Given the description of an element on the screen output the (x, y) to click on. 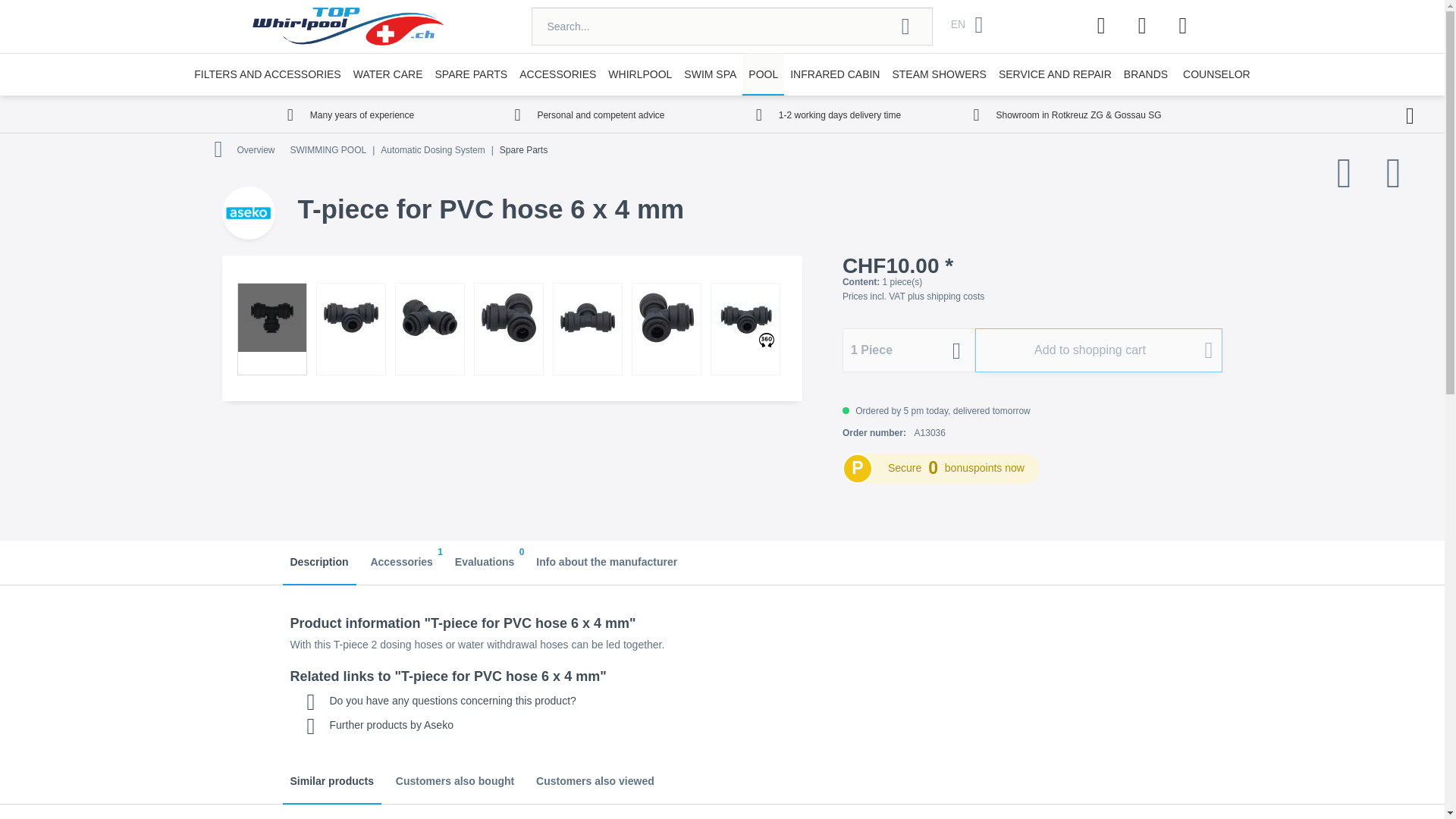
STEAM SHOWERS (938, 74)
SWIM SPA (710, 74)
Top-Whirlpool.ch - Switch to homepage (347, 26)
My account (1141, 25)
COUNSELOR (1216, 74)
ACCESSORIES (557, 74)
Wish list (1101, 25)
SWIM SPA (710, 74)
Similar products (331, 782)
POOL (763, 74)
